Given the description of an element on the screen output the (x, y) to click on. 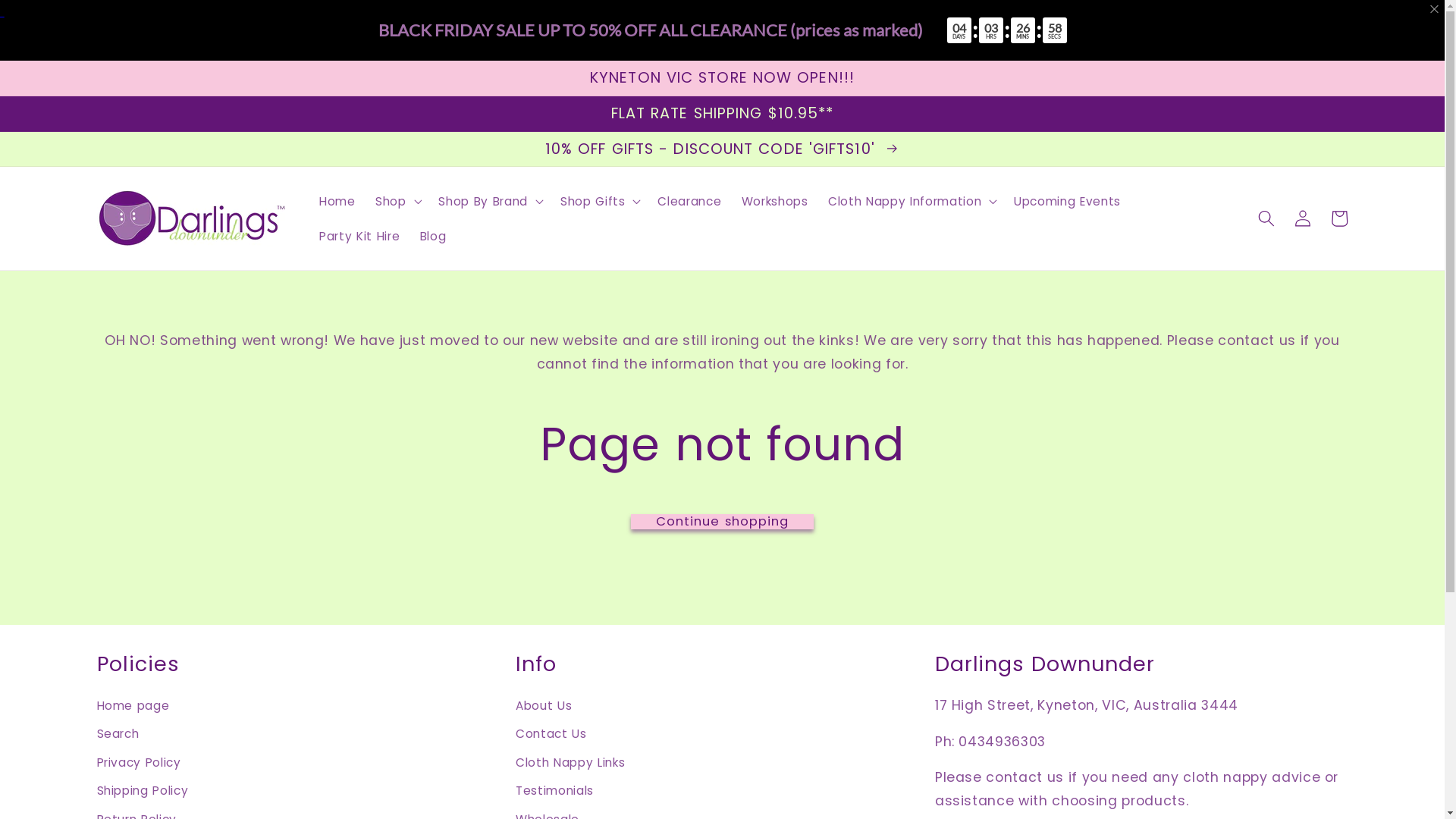
Home page Element type: text (133, 708)
Cloth Nappy Links Element type: text (569, 762)
Testimonials Element type: text (554, 791)
Party Kit Hire Element type: text (359, 235)
Blog Element type: text (432, 235)
Log in Element type: text (1302, 218)
Shipping Policy Element type: text (142, 791)
Cart Element type: text (1339, 218)
Workshops Element type: text (774, 200)
Privacy Policy Element type: text (139, 762)
Clearance Element type: text (689, 200)
Continue shopping Element type: text (722, 521)
Search Element type: text (118, 734)
  Element type: text (1434, 9)
About Us Element type: text (543, 708)
  Element type: text (722, 30)
Upcoming Events Element type: text (1067, 200)
Home Element type: text (337, 200)
Contact Us Element type: text (550, 734)
10% OFF GIFTS - DISCOUNT CODE 'GIFTS10' Element type: text (722, 148)
